Given the description of an element on the screen output the (x, y) to click on. 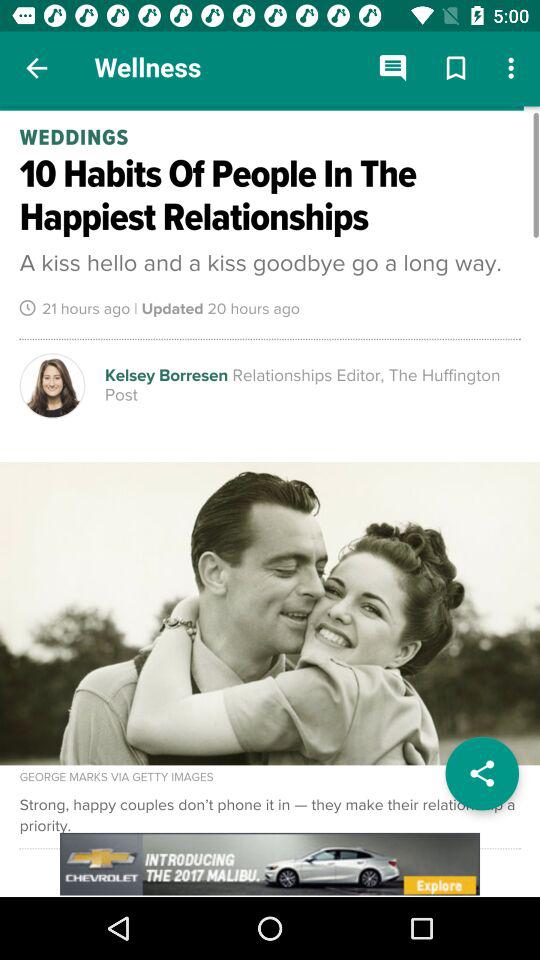
open article (270, 501)
